Given the description of an element on the screen output the (x, y) to click on. 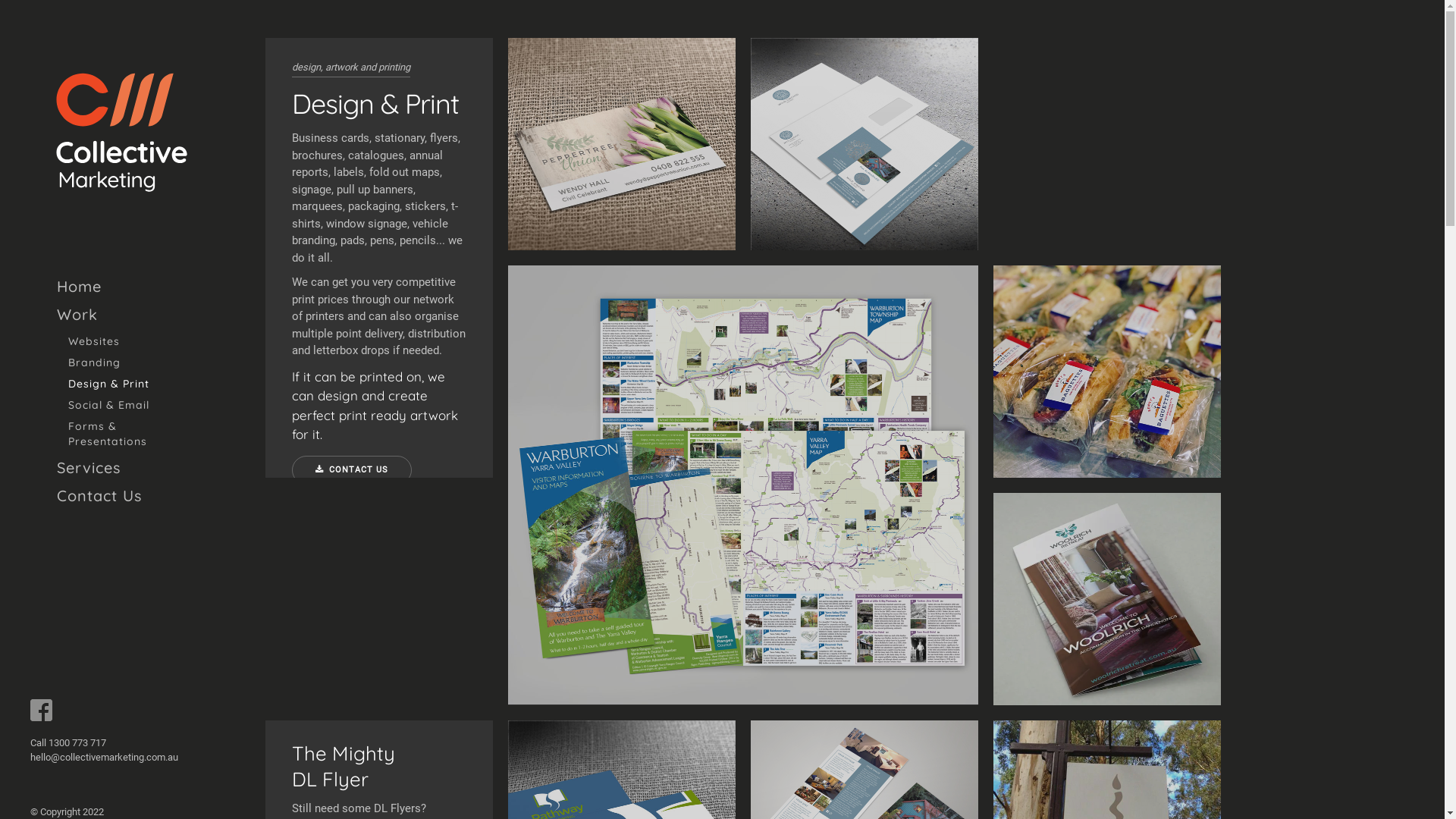
Social & Email Element type: text (119, 404)
Services Element type: text (119, 468)
hello@collectivemarketing.com.au Element type: text (104, 756)
Contact Us Element type: text (119, 496)
Websites Element type: text (119, 340)
Call 1300 773 717 Element type: text (68, 742)
Work Element type: text (119, 315)
Forms & Presentations Element type: text (119, 433)
Branding Element type: text (119, 362)
Design & Print Element type: text (119, 383)
Collective Marketing Element type: text (121, 132)
CONTACT US Element type: text (351, 469)
Home Element type: text (119, 287)
